Given the description of an element on the screen output the (x, y) to click on. 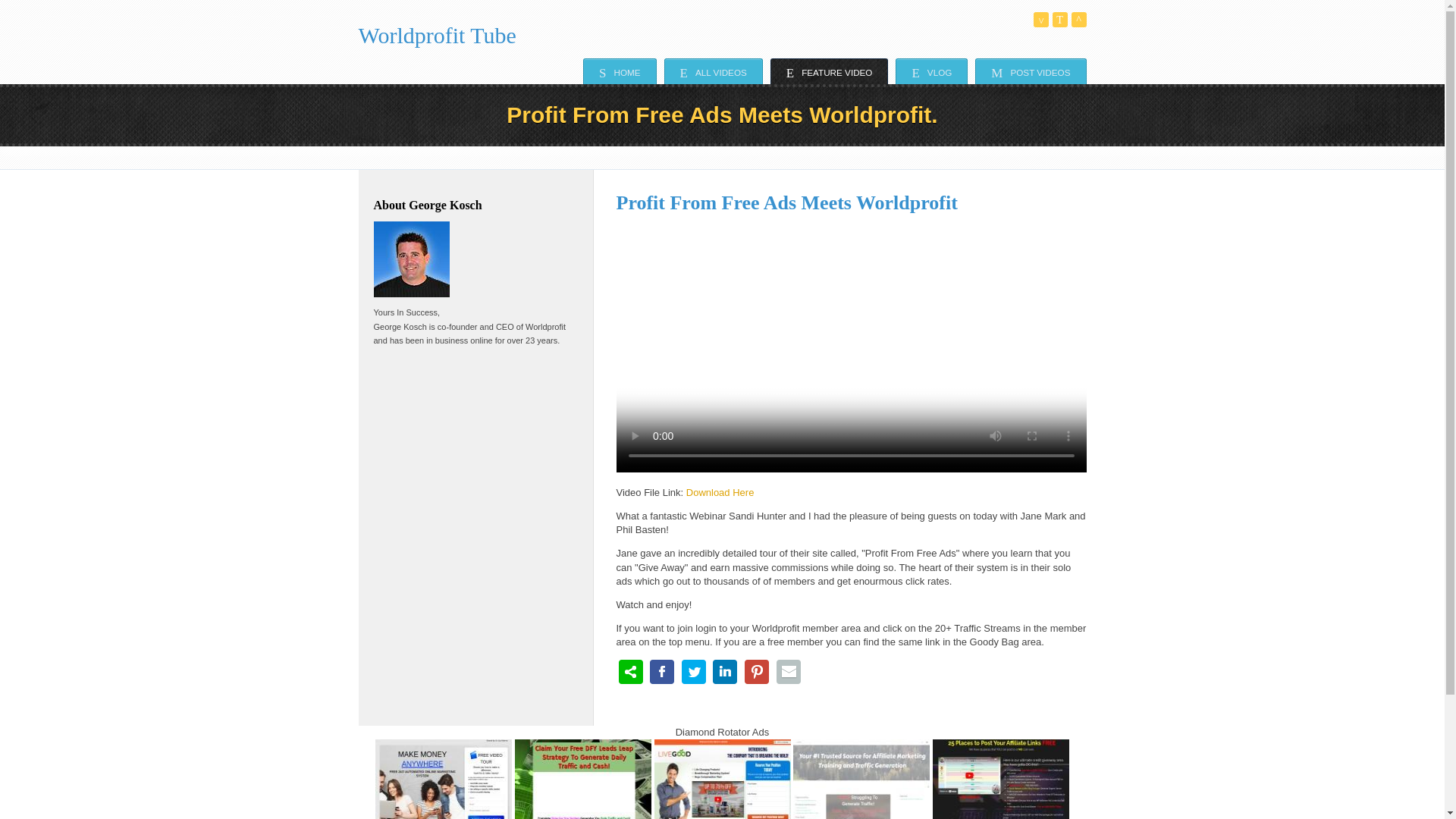
MPOST VIDEOS (1030, 71)
EFEATURE VIDEO (829, 71)
SHOME (619, 71)
T (1059, 19)
Download Here (719, 491)
EVLOG (931, 71)
Worldprofit Tube (436, 34)
EALL VIDEOS (712, 71)
